Given the description of an element on the screen output the (x, y) to click on. 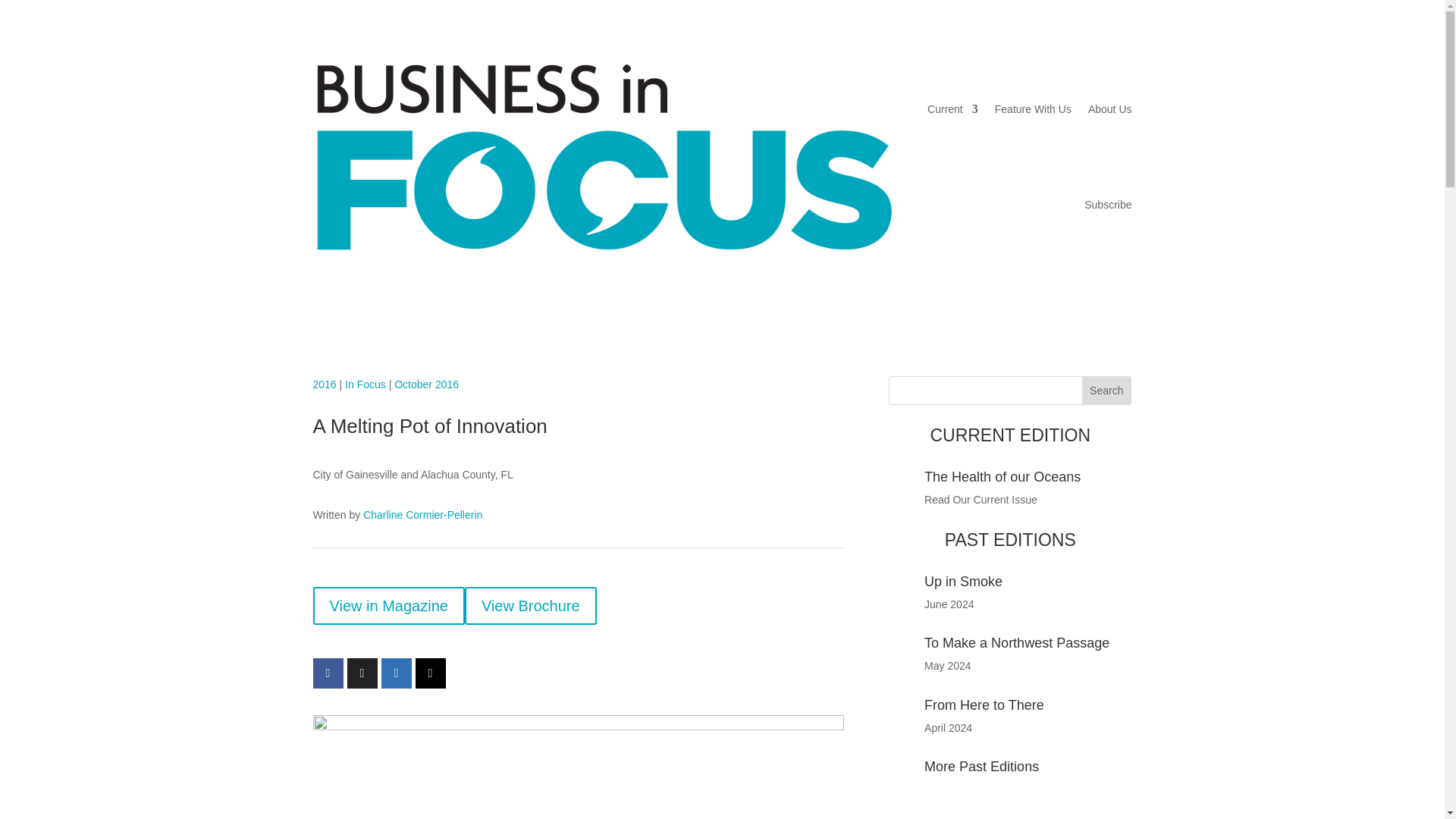
Search (1106, 390)
Search (1106, 390)
View in Magazine (388, 605)
2016 (324, 384)
In Focus (365, 384)
Charline Cormier-Pellerin (421, 514)
GreaterGainesvilleBanner (578, 766)
Search (1106, 390)
View Brochure (530, 605)
October 2016 (426, 384)
